Given the description of an element on the screen output the (x, y) to click on. 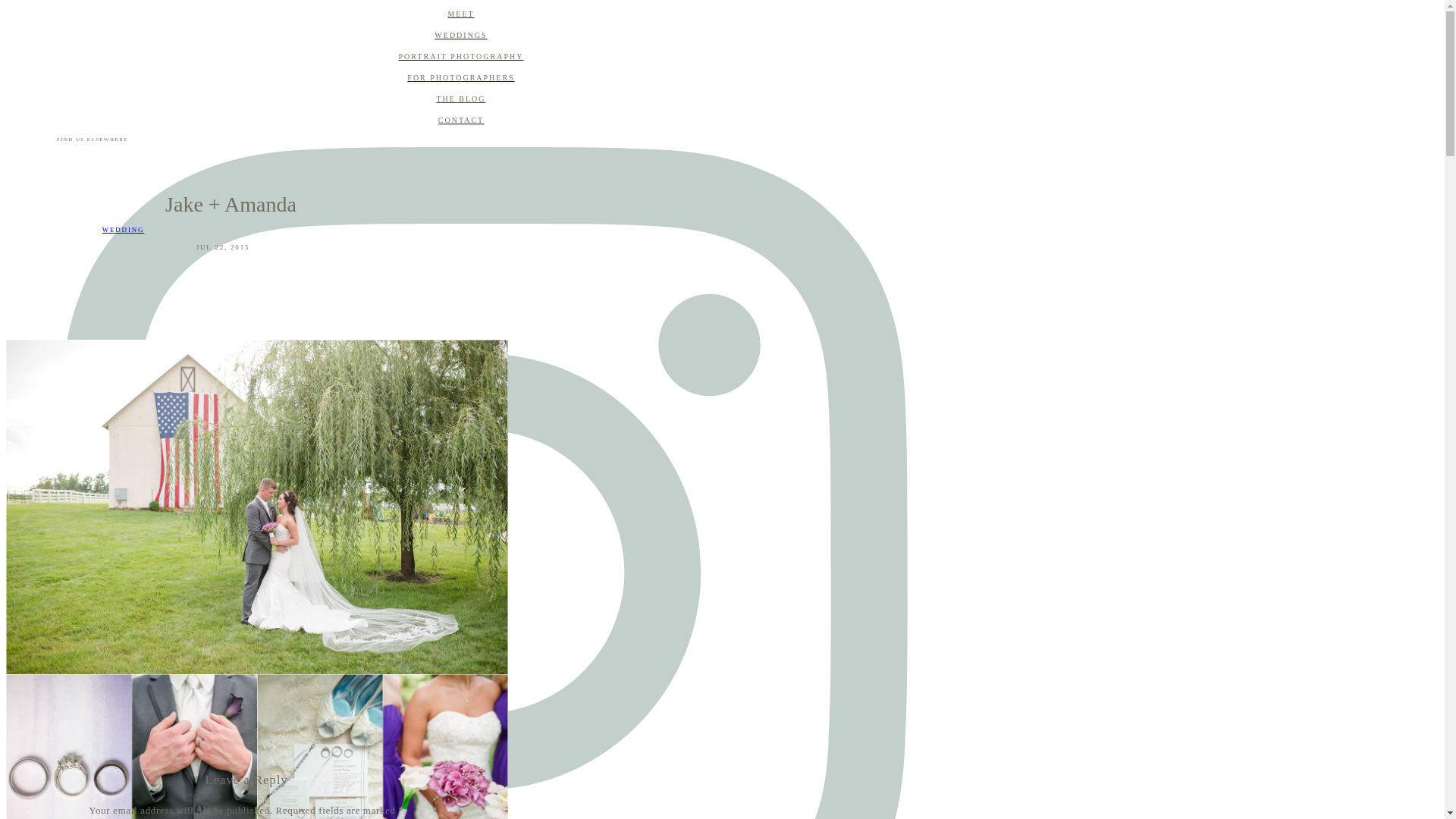
THE BLOG (460, 99)
CONTACT (460, 120)
MEET (460, 14)
PORTRAIT PHOTOGRAPHY (460, 56)
WEDDINGS (460, 35)
WEDDING (122, 229)
FOR PHOTOGRAPHERS (460, 78)
